Given the description of an element on the screen output the (x, y) to click on. 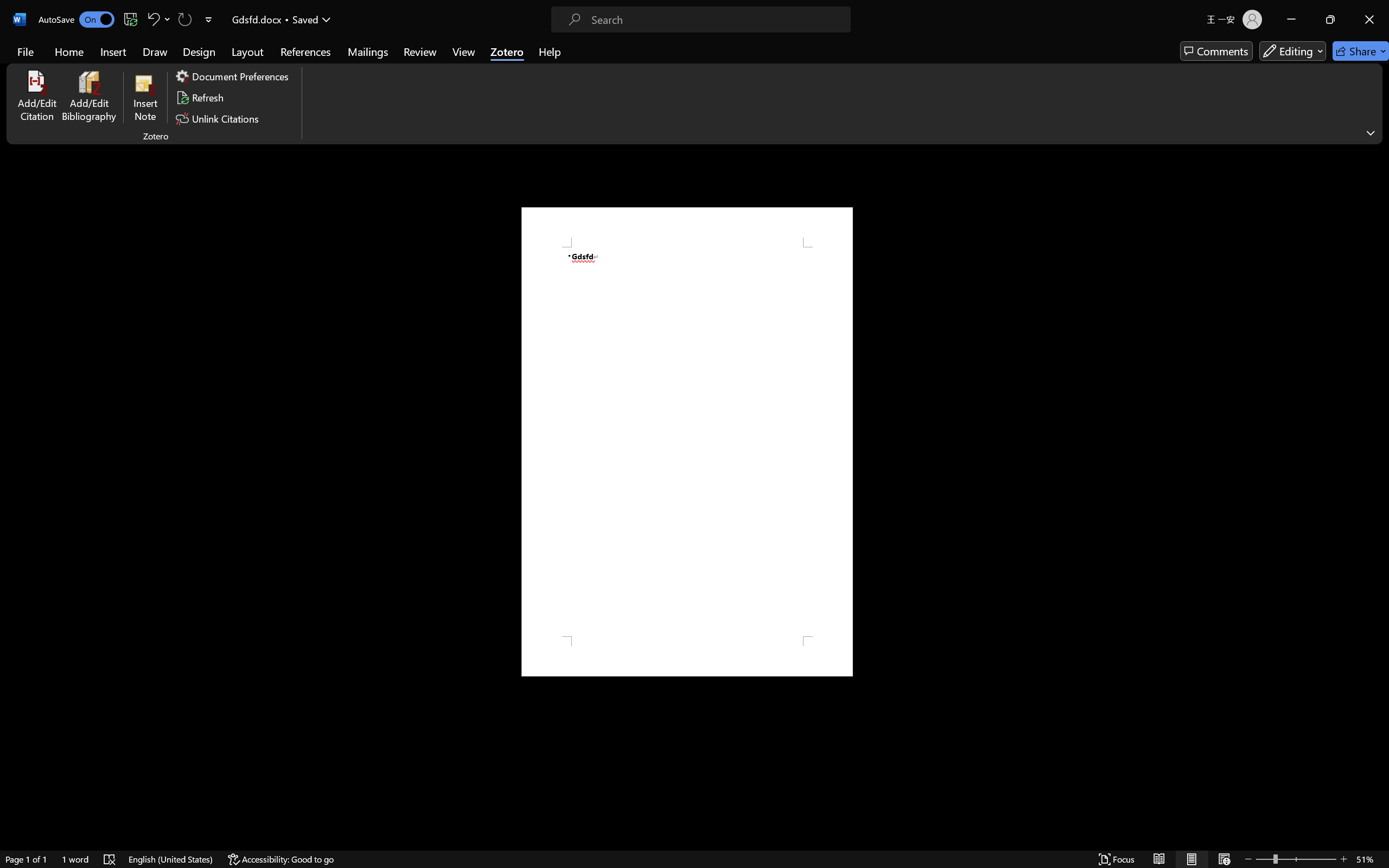
Notes (549, 172)
Words (549, 158)
Show Fewer Properties (476, 521)
Specify the manager (517, 436)
Presentation format (549, 241)
Hyperlink Base (549, 310)
Status (549, 269)
Tags (549, 200)
Options (38, 821)
